Given the description of an element on the screen output the (x, y) to click on. 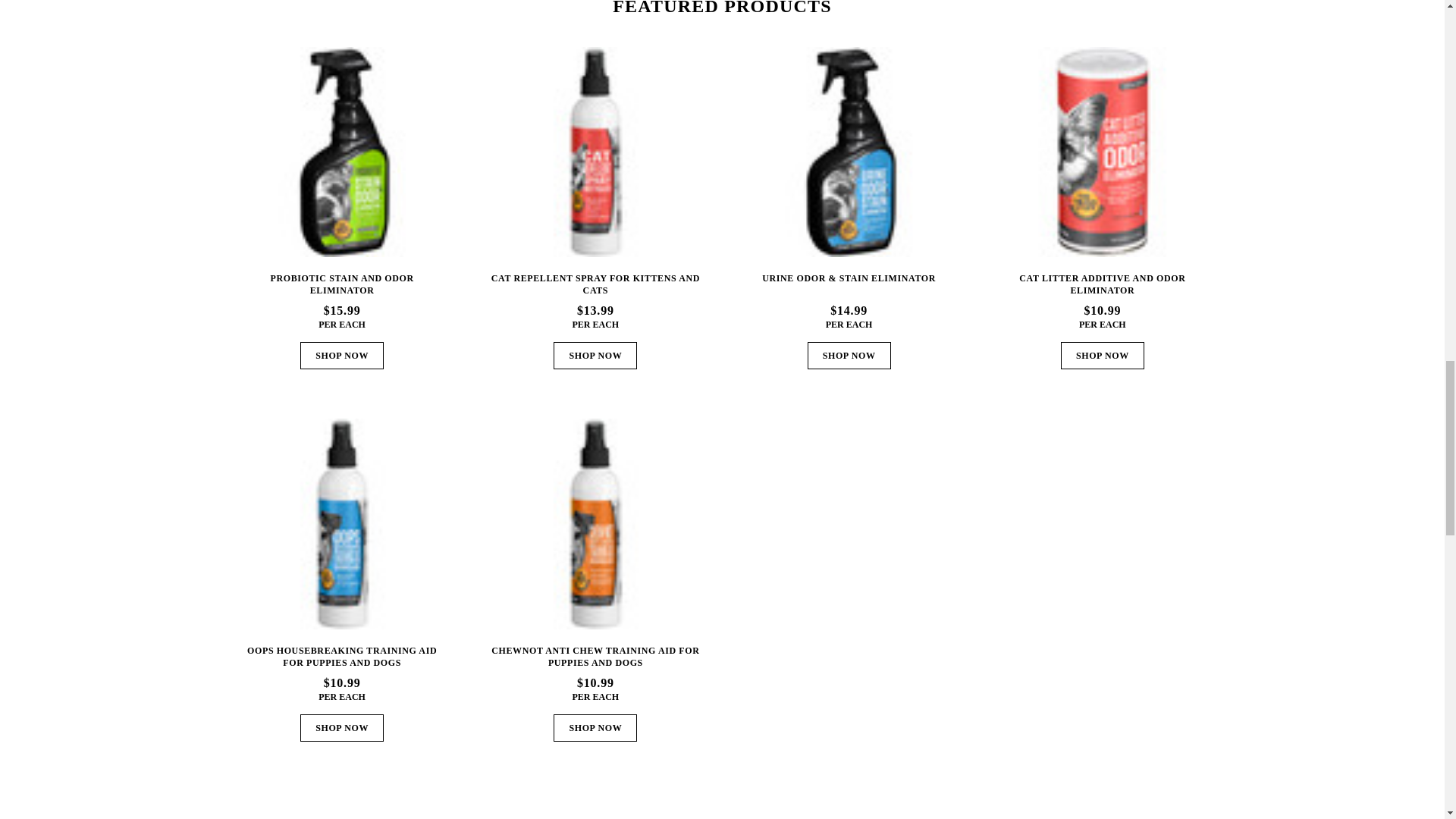
OOPS Housebreaking Training Aid for Puppies and Dogs (340, 523)
Cat Repellent Spray for Kittens and Cats (595, 151)
ChewNot Anti Chew Training Aid for Puppies and Dogs (595, 523)
Cat Litter Additive and Odor Eliminator (1102, 151)
Probiotic Stain and Odor Eliminator (340, 151)
